Given the description of an element on the screen output the (x, y) to click on. 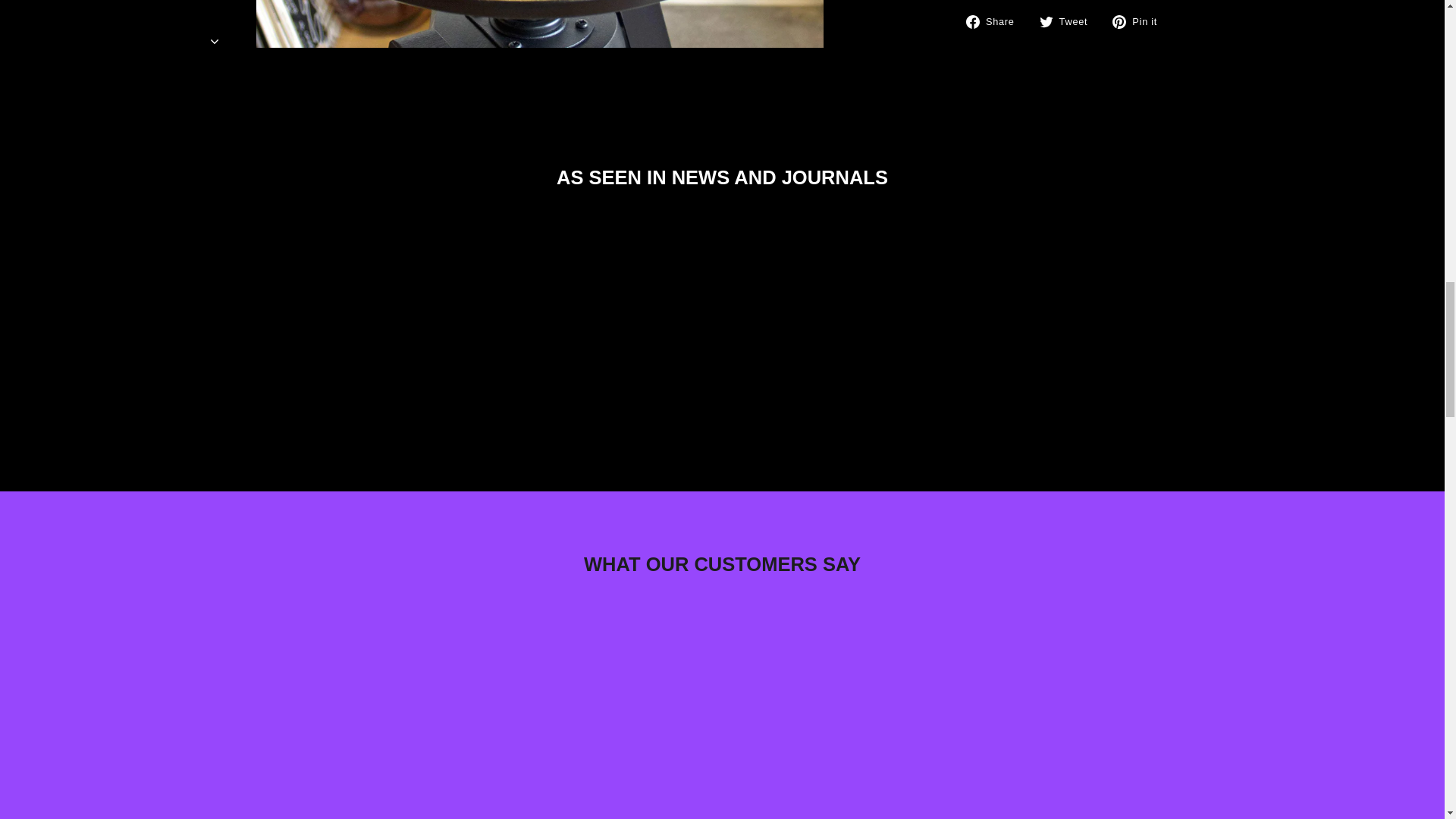
Tweet on Twitter (1069, 21)
Share on Facebook (996, 21)
Pin on Pinterest (1140, 21)
